Given the description of an element on the screen output the (x, y) to click on. 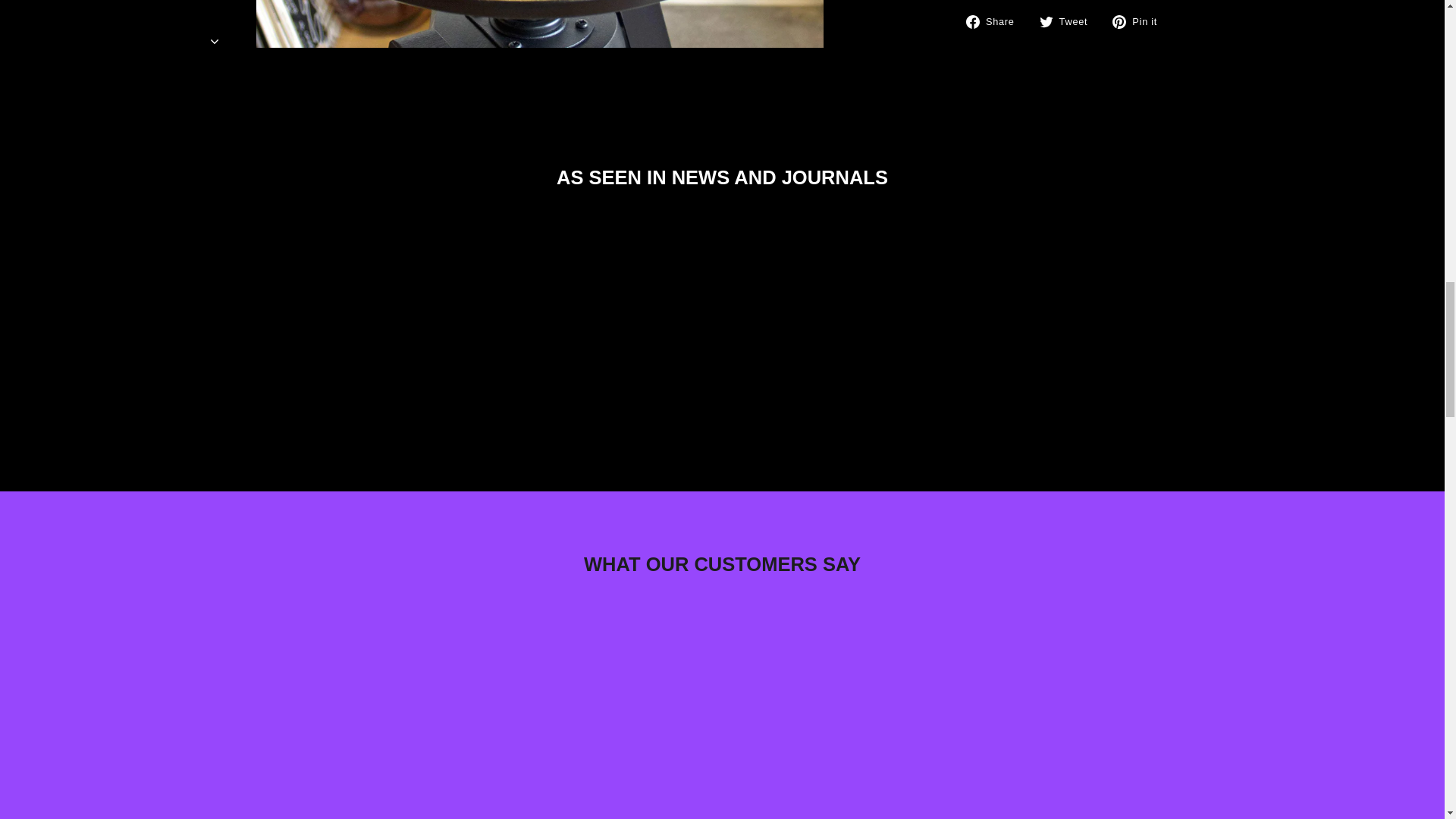
Tweet on Twitter (1069, 21)
Share on Facebook (996, 21)
Pin on Pinterest (1140, 21)
